Given the description of an element on the screen output the (x, y) to click on. 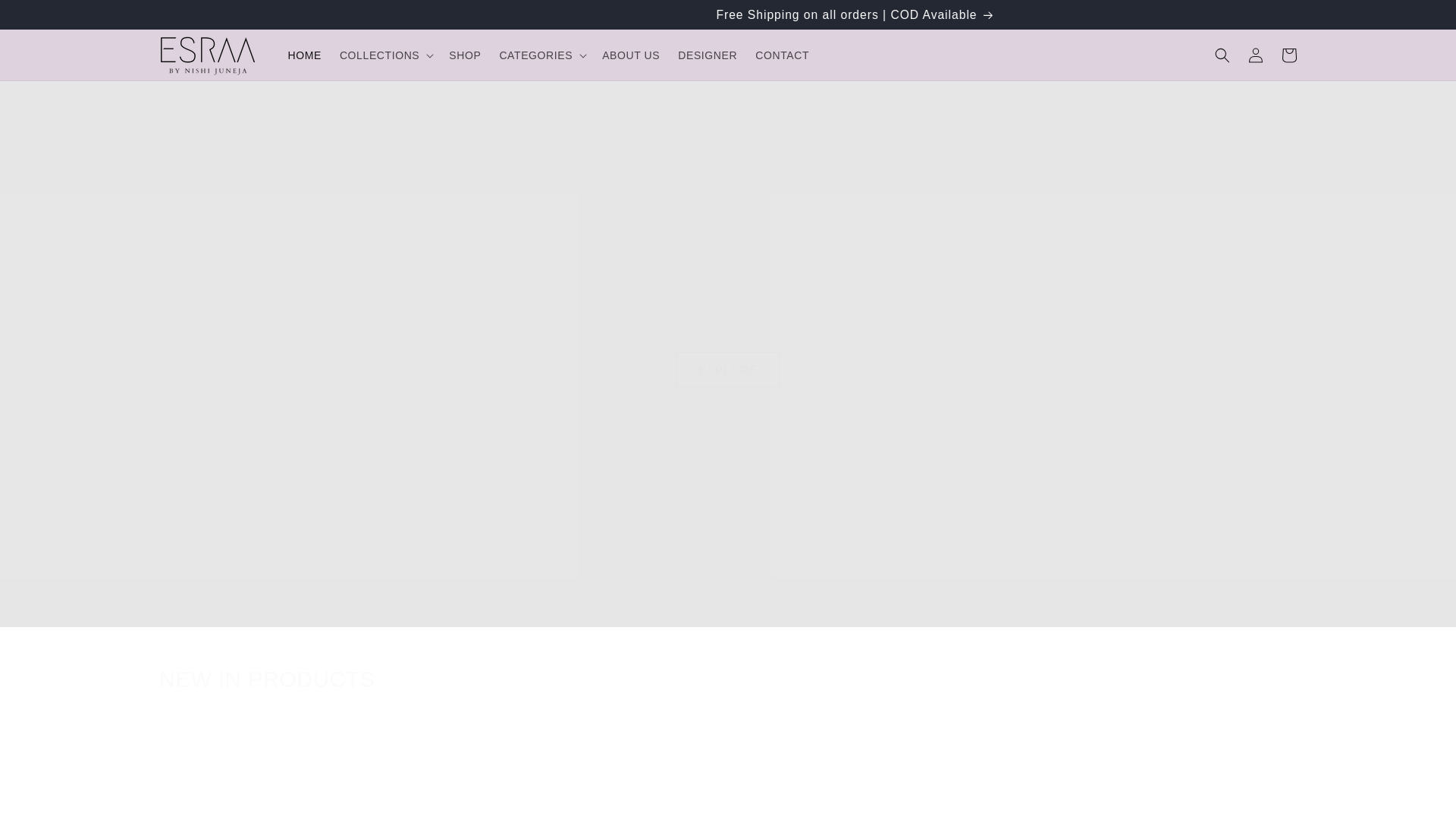
SHOP (464, 55)
NEW IN PRODUCTS (727, 679)
Skip to content (45, 17)
0 (191, 716)
HOME (304, 55)
